Given the description of an element on the screen output the (x, y) to click on. 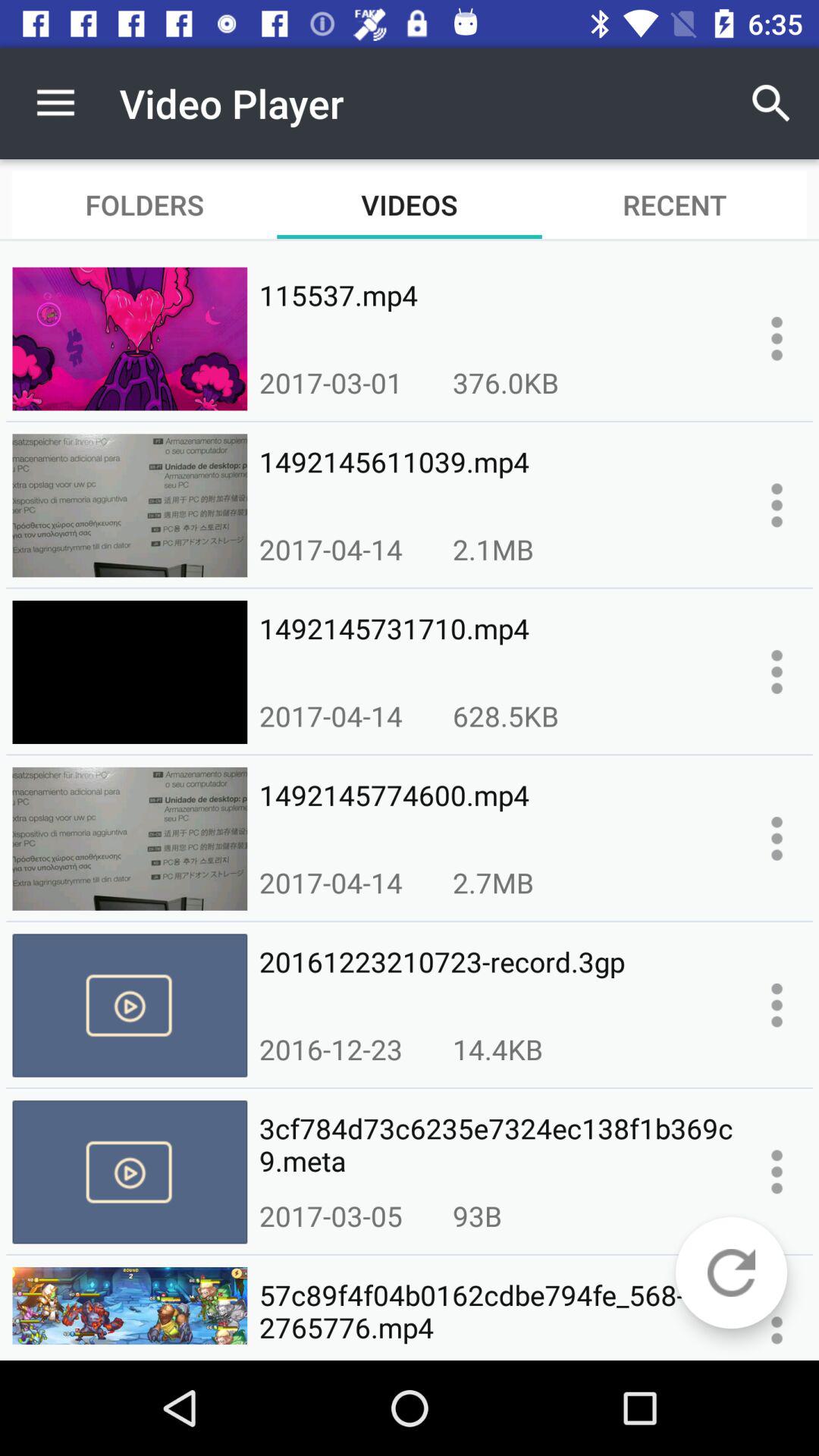
information about the video (776, 1322)
